Given the description of an element on the screen output the (x, y) to click on. 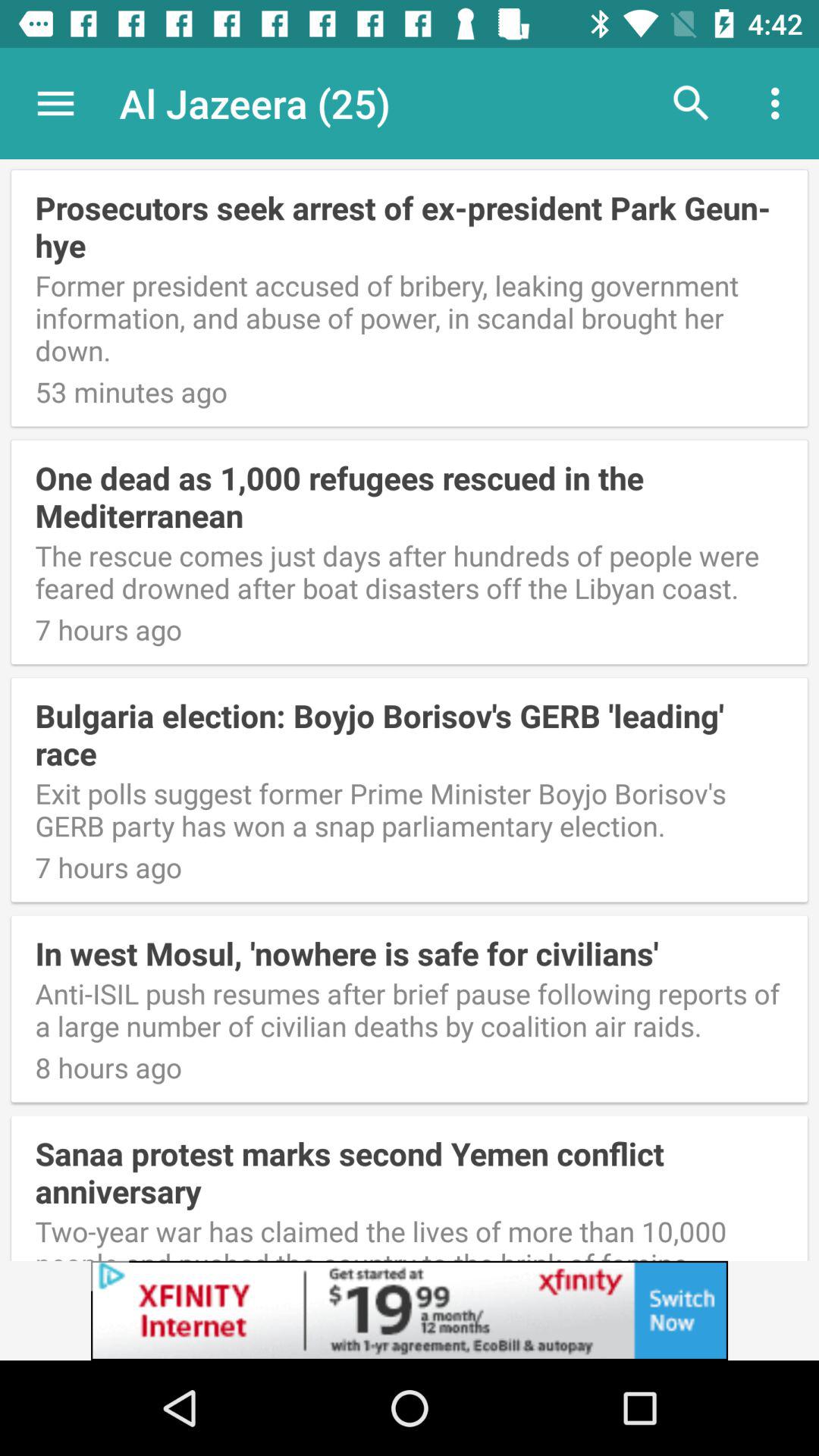
turn on the icon above the prosecutors seek arrest (55, 103)
